Given the description of an element on the screen output the (x, y) to click on. 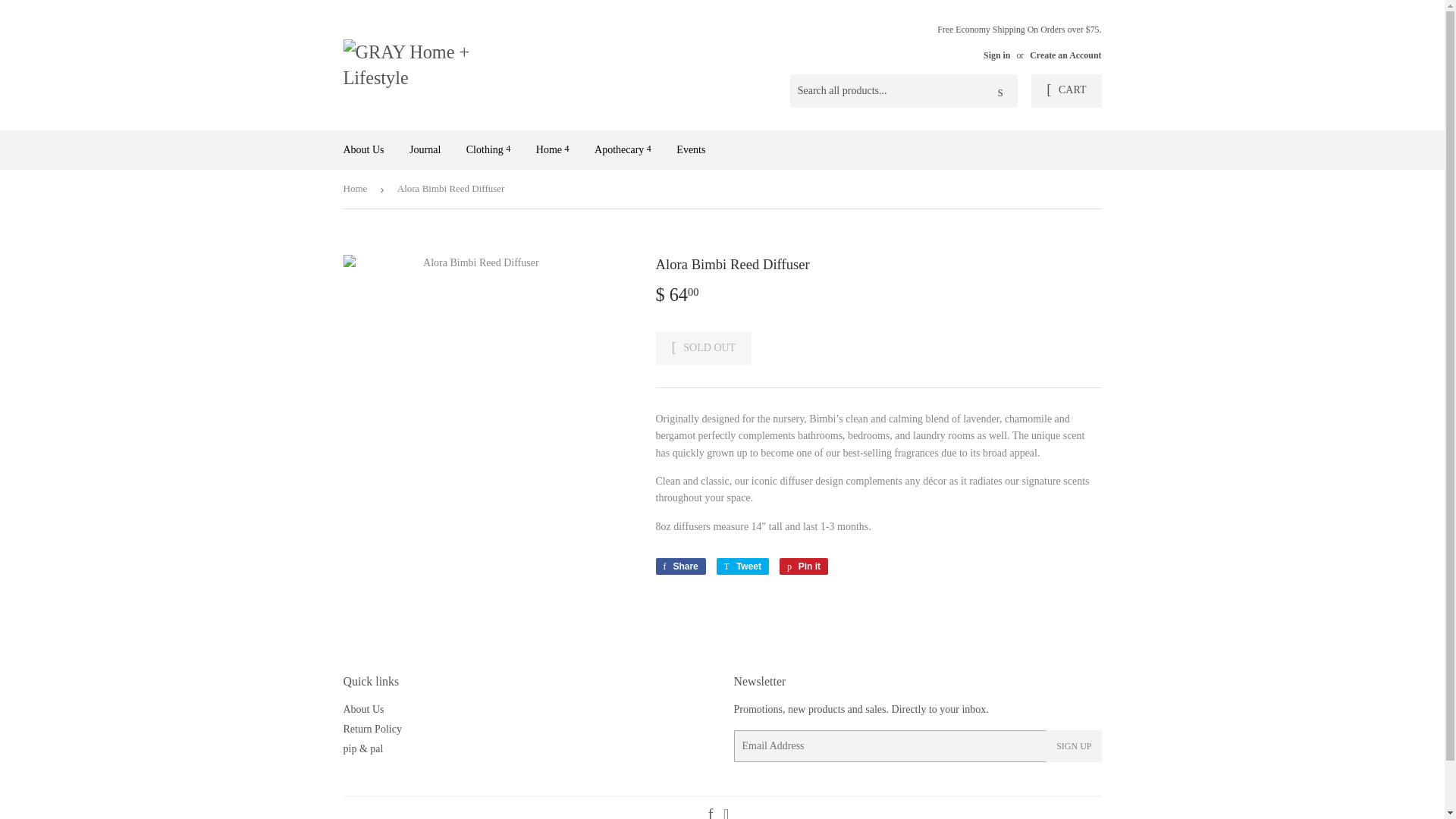
Tweet on Twitter (742, 565)
Share on Facebook (679, 565)
CART (1065, 90)
Create an Account (1064, 54)
Pin on Pinterest (803, 565)
Sign in (997, 54)
Search (1000, 91)
